Given the description of an element on the screen output the (x, y) to click on. 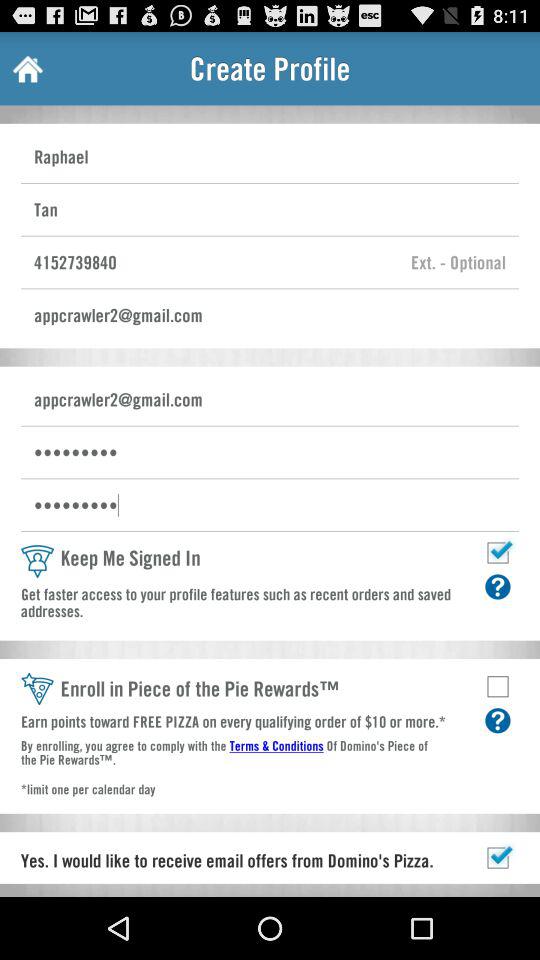
include phone number extension (458, 261)
